Given the description of an element on the screen output the (x, y) to click on. 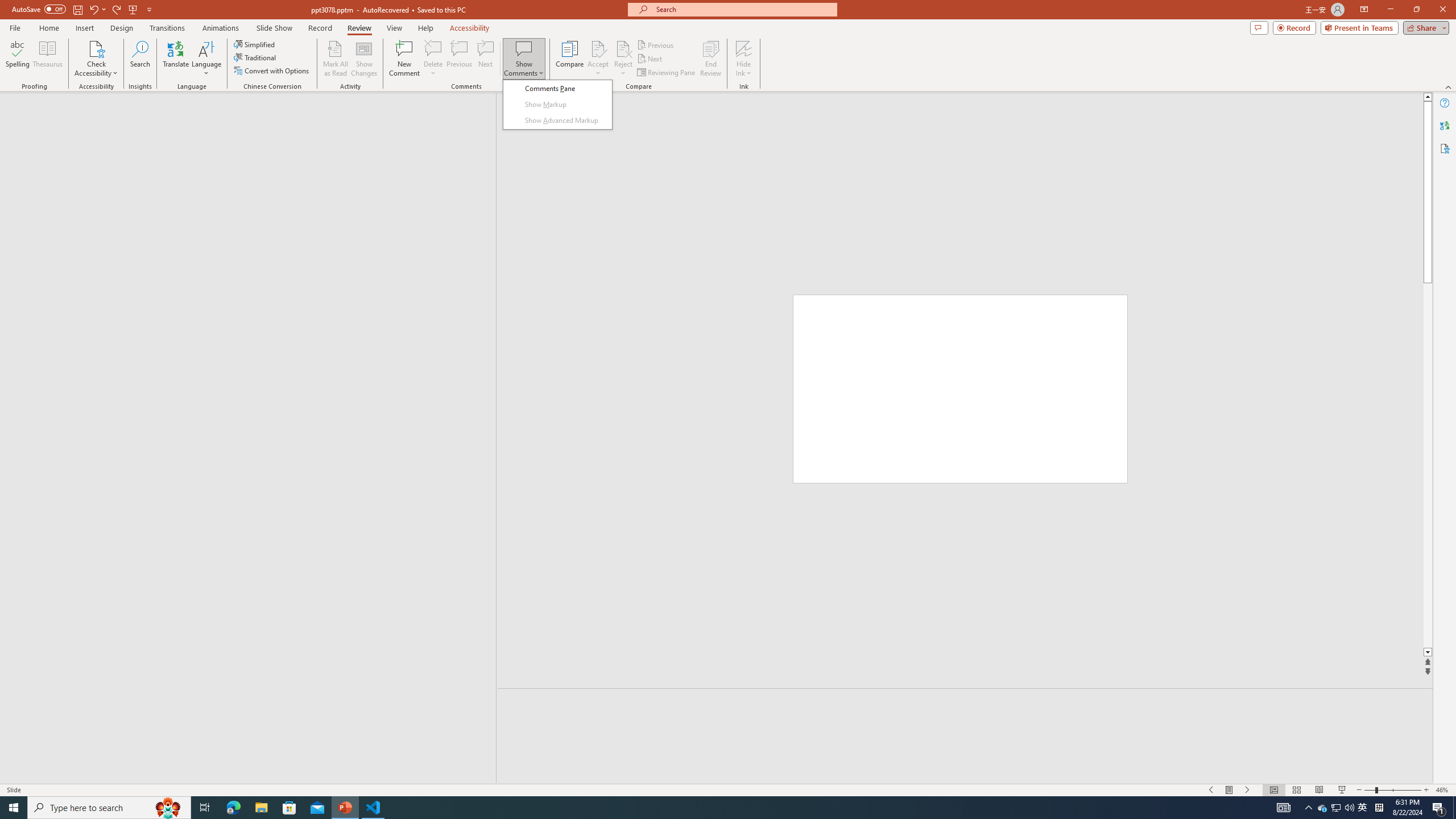
Zoom 46% (1443, 790)
New Comment (403, 58)
Accept (598, 58)
Compare (569, 58)
